Given the description of an element on the screen output the (x, y) to click on. 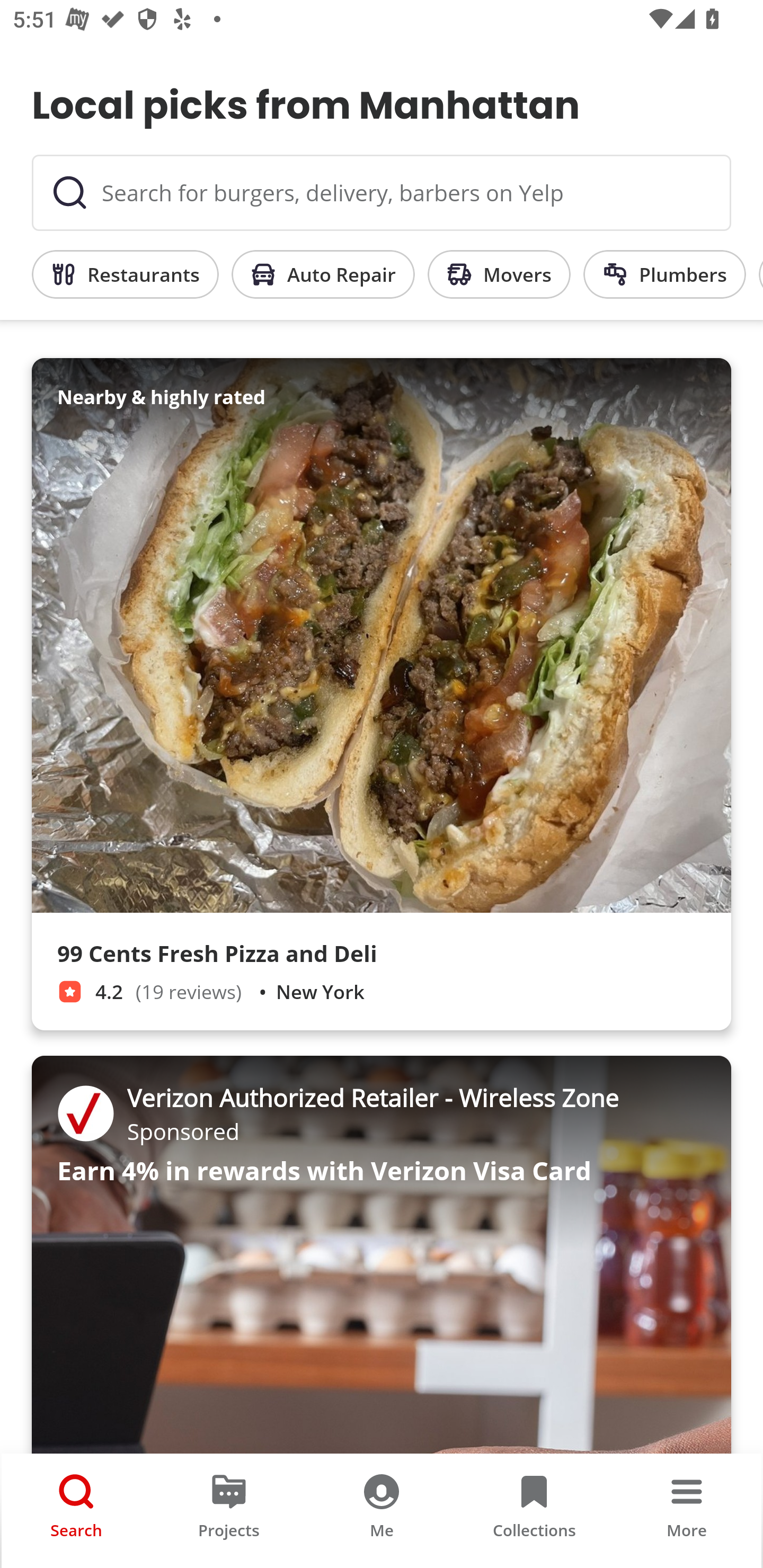
Search for burgers, delivery, barbers on Yelp (381, 192)
